Given the description of an element on the screen output the (x, y) to click on. 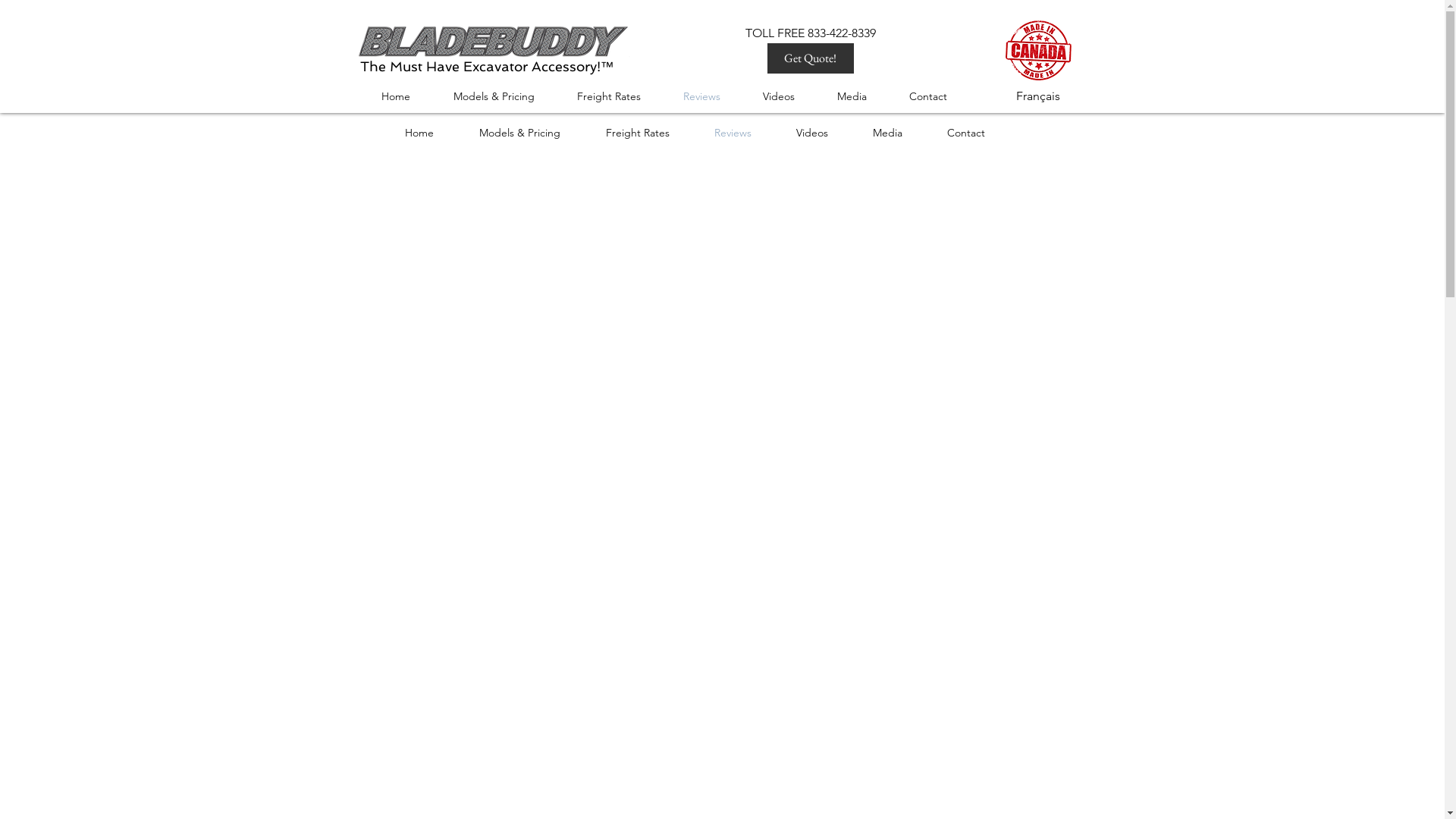
Reviews Element type: text (711, 96)
Get Quote! Element type: text (810, 58)
Models & Pricing Element type: text (502, 96)
Reviews Element type: text (743, 132)
Media Element type: text (898, 132)
Contact Element type: text (937, 96)
TOLL FREE 833-422-8339 Element type: text (810, 33)
Contact Element type: text (976, 132)
Videos Element type: text (787, 96)
LOGO BLADEBUDDY not _edited.png Element type: hover (510, 41)
Freight Rates Element type: text (648, 132)
Videos Element type: text (822, 132)
Home Element type: text (406, 96)
Media Element type: text (861, 96)
Models & Pricing Element type: text (530, 132)
Freight Rates Element type: text (618, 96)
Home Element type: text (429, 132)
